Given the description of an element on the screen output the (x, y) to click on. 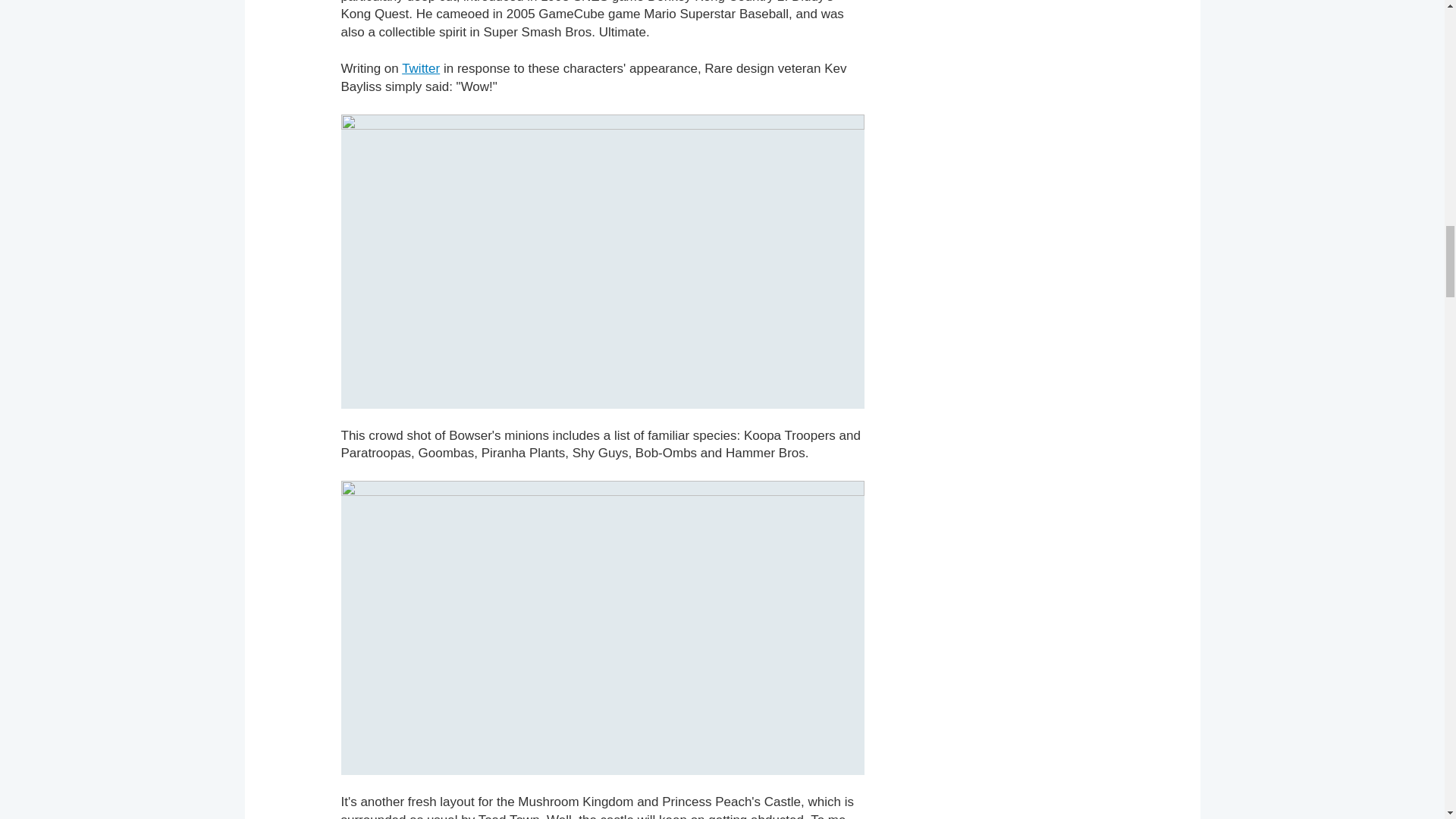
Twitter (420, 68)
